Given the description of an element on the screen output the (x, y) to click on. 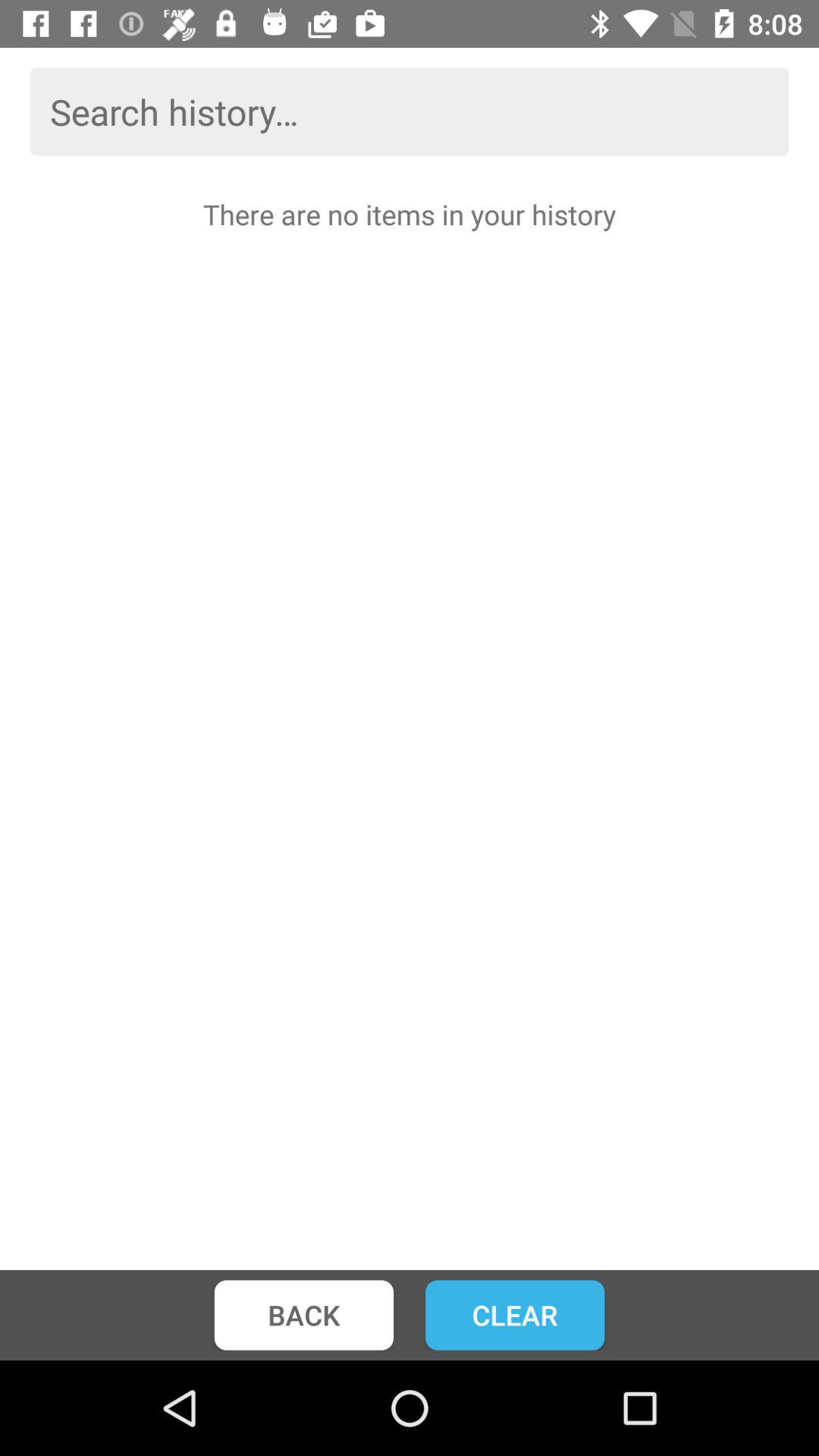
click the icon above there are no item (409, 111)
